Given the description of an element on the screen output the (x, y) to click on. 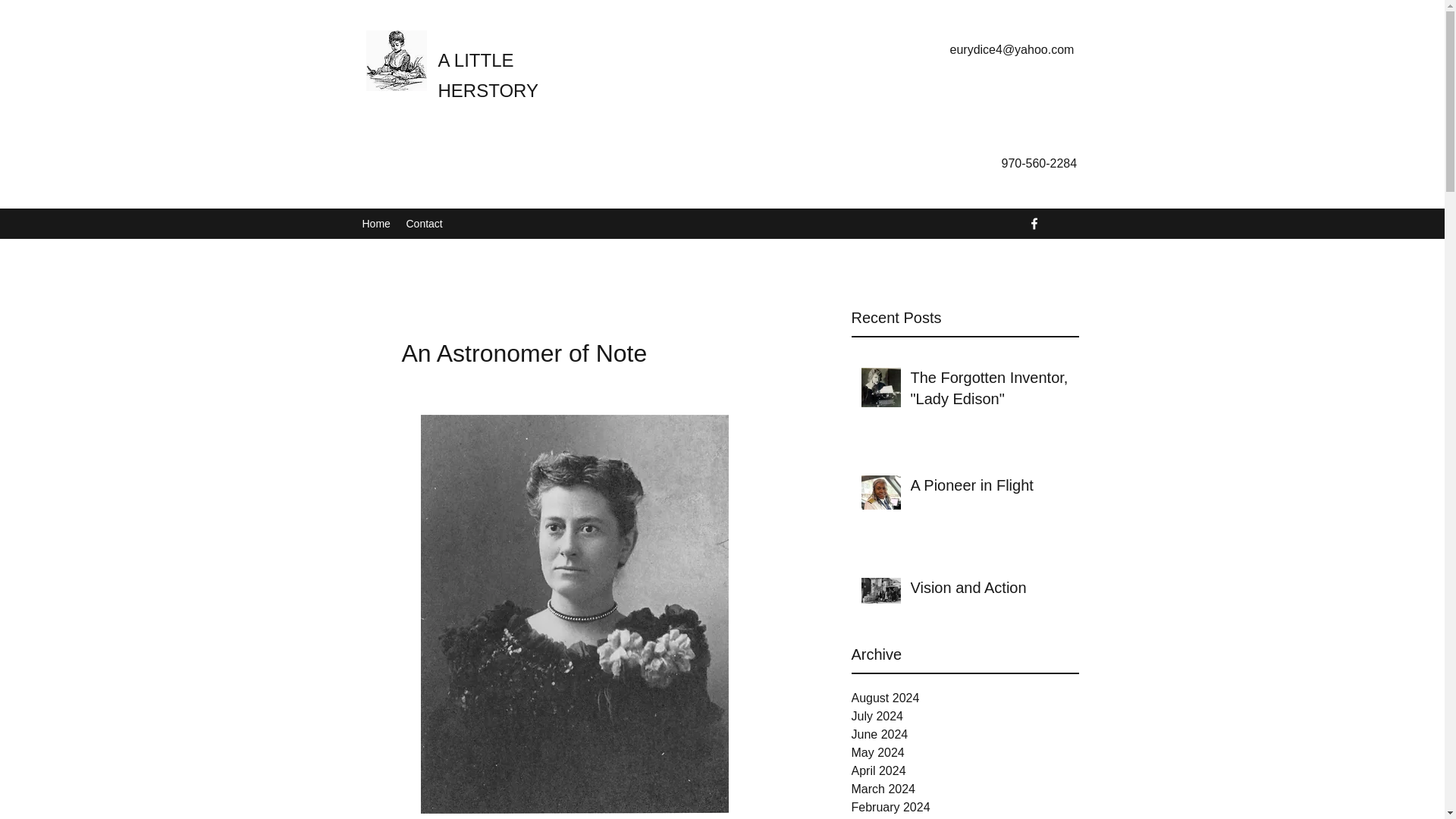
A Pioneer in Flight (989, 488)
June 2024 (964, 734)
August 2024 (964, 698)
February 2024 (964, 807)
Vision and Action (989, 590)
Contact (424, 223)
July 2024 (964, 716)
May 2024 (964, 752)
March 2024 (964, 789)
